Given the description of an element on the screen output the (x, y) to click on. 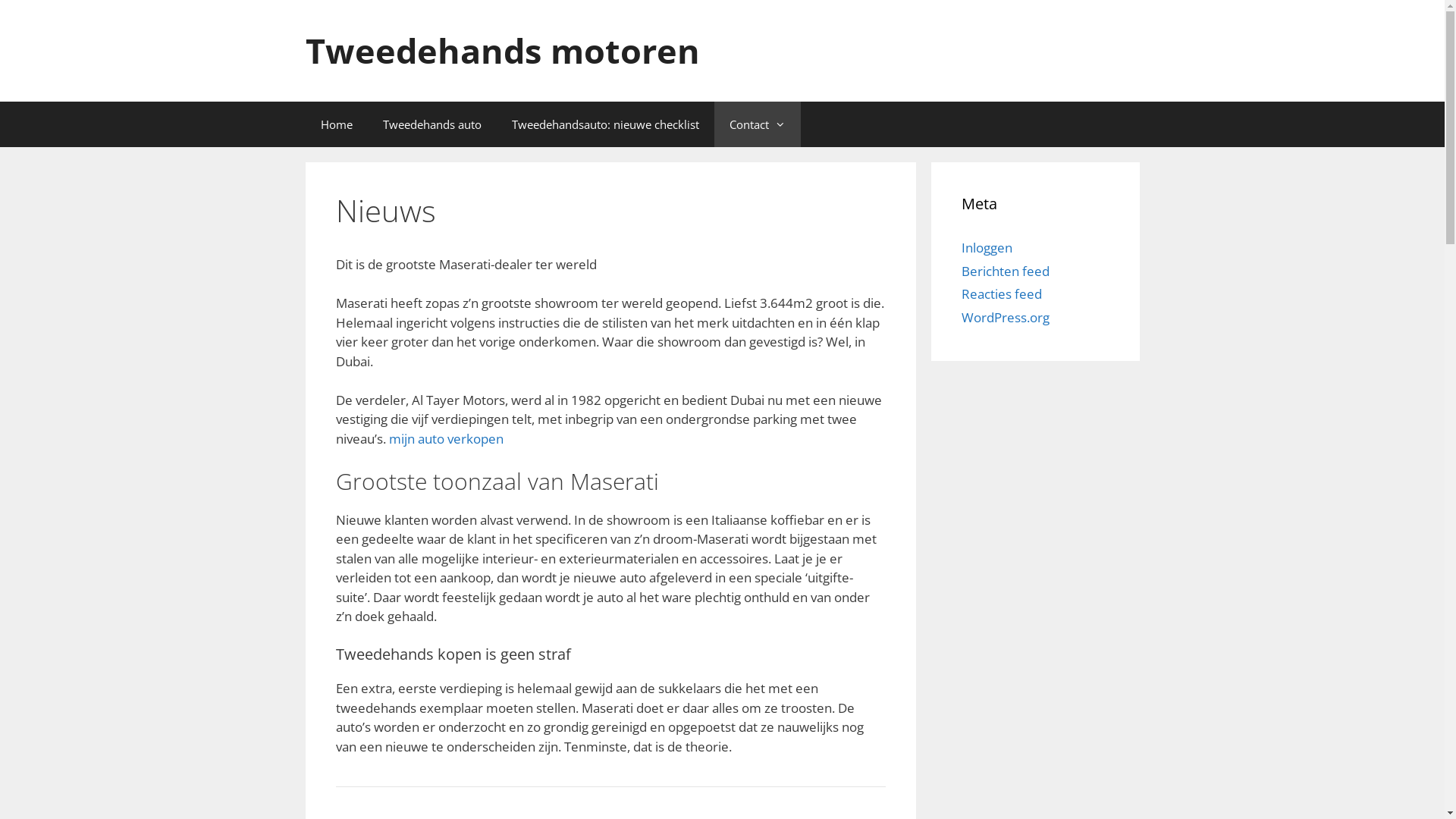
Inloggen Element type: text (986, 247)
WordPress.org Element type: text (1005, 316)
Tweedehands auto Element type: text (431, 124)
Home Element type: text (335, 124)
mijn auto verkopen Element type: text (445, 437)
Tweedehands motoren Element type: text (501, 50)
Reacties feed Element type: text (1001, 293)
Berichten feed Element type: text (1005, 270)
Contact Element type: text (757, 124)
Tweedehandsauto: nieuwe checklist Element type: text (604, 124)
